Given the description of an element on the screen output the (x, y) to click on. 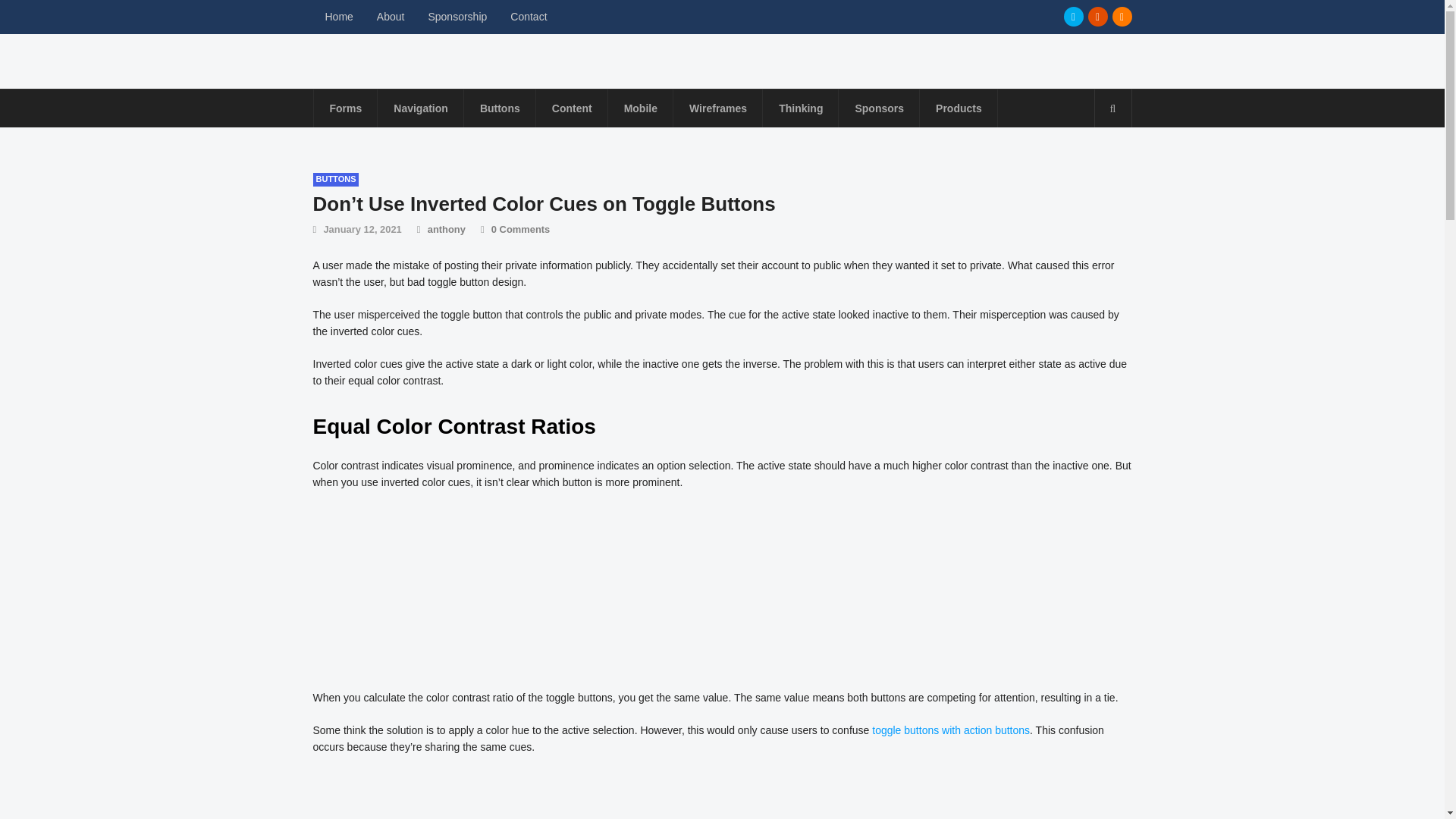
RSS (1121, 16)
Sponsors (879, 108)
Search (1112, 108)
toggle buttons with action buttons (950, 729)
Wireframes (717, 108)
Home (339, 16)
Wireframes (717, 108)
Sponsorship (457, 16)
Buttons (499, 108)
Mobile (640, 108)
